Given the description of an element on the screen output the (x, y) to click on. 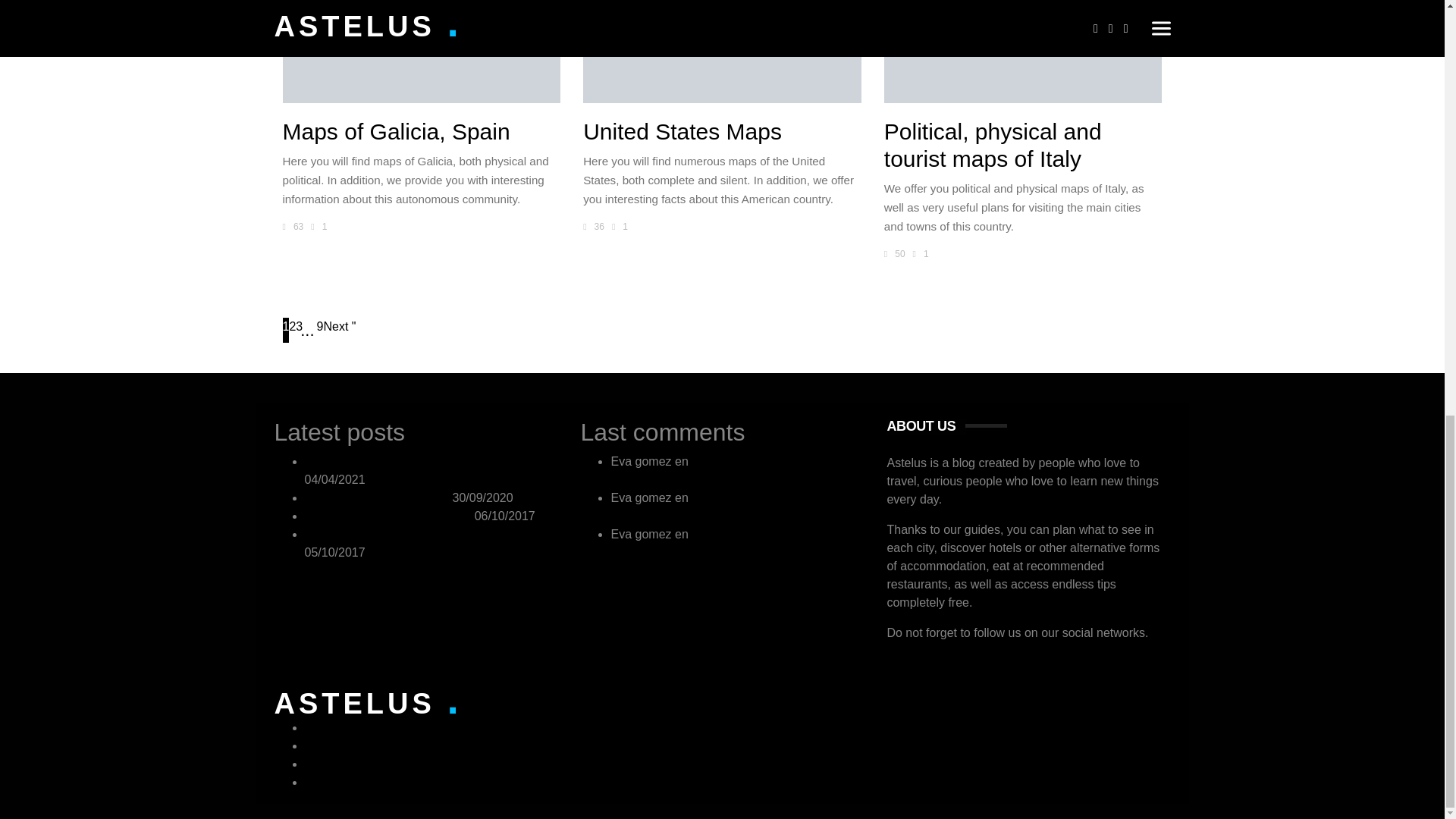
Maps of Galicia, Spain (421, 51)
Political, physical and tourist maps of Italy (1022, 51)
United States Maps (722, 51)
